Given the description of an element on the screen output the (x, y) to click on. 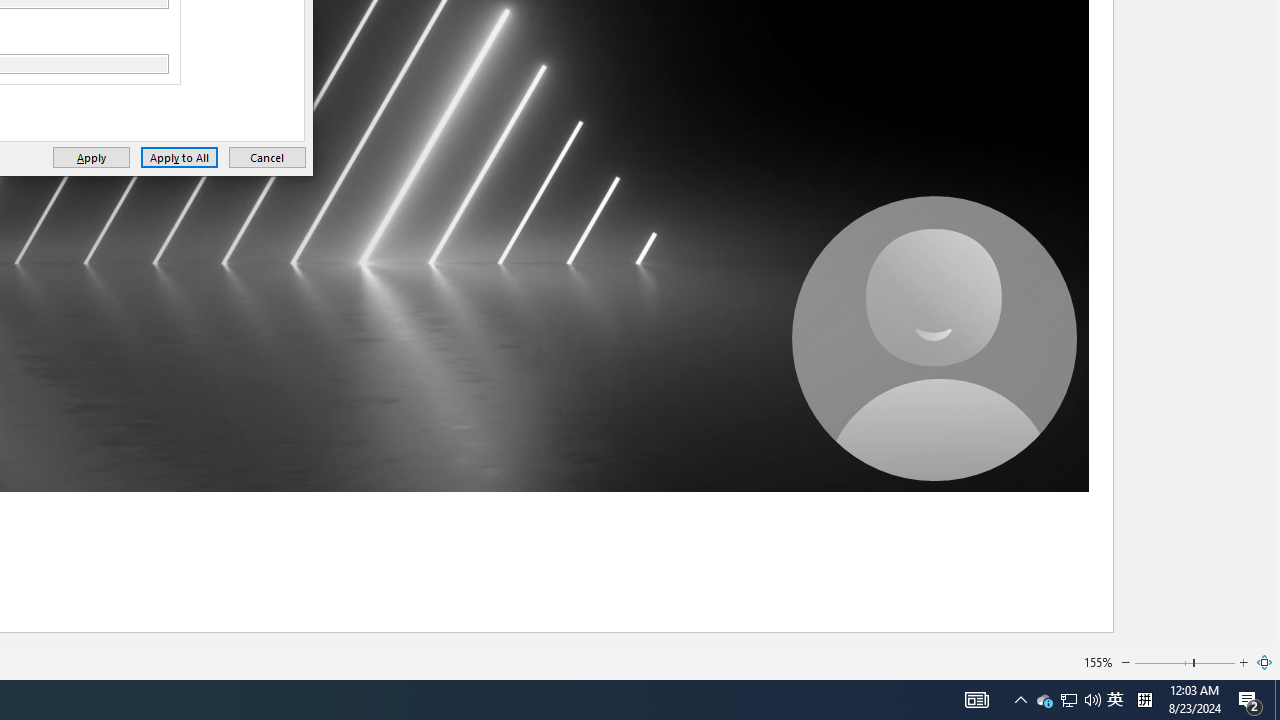
Zoom to Page (1044, 699)
Cancel (1265, 662)
Action Center, 2 new notifications (267, 157)
Apply (1250, 699)
Page right (91, 157)
155% (1215, 662)
Apply to All (1098, 662)
